Given the description of an element on the screen output the (x, y) to click on. 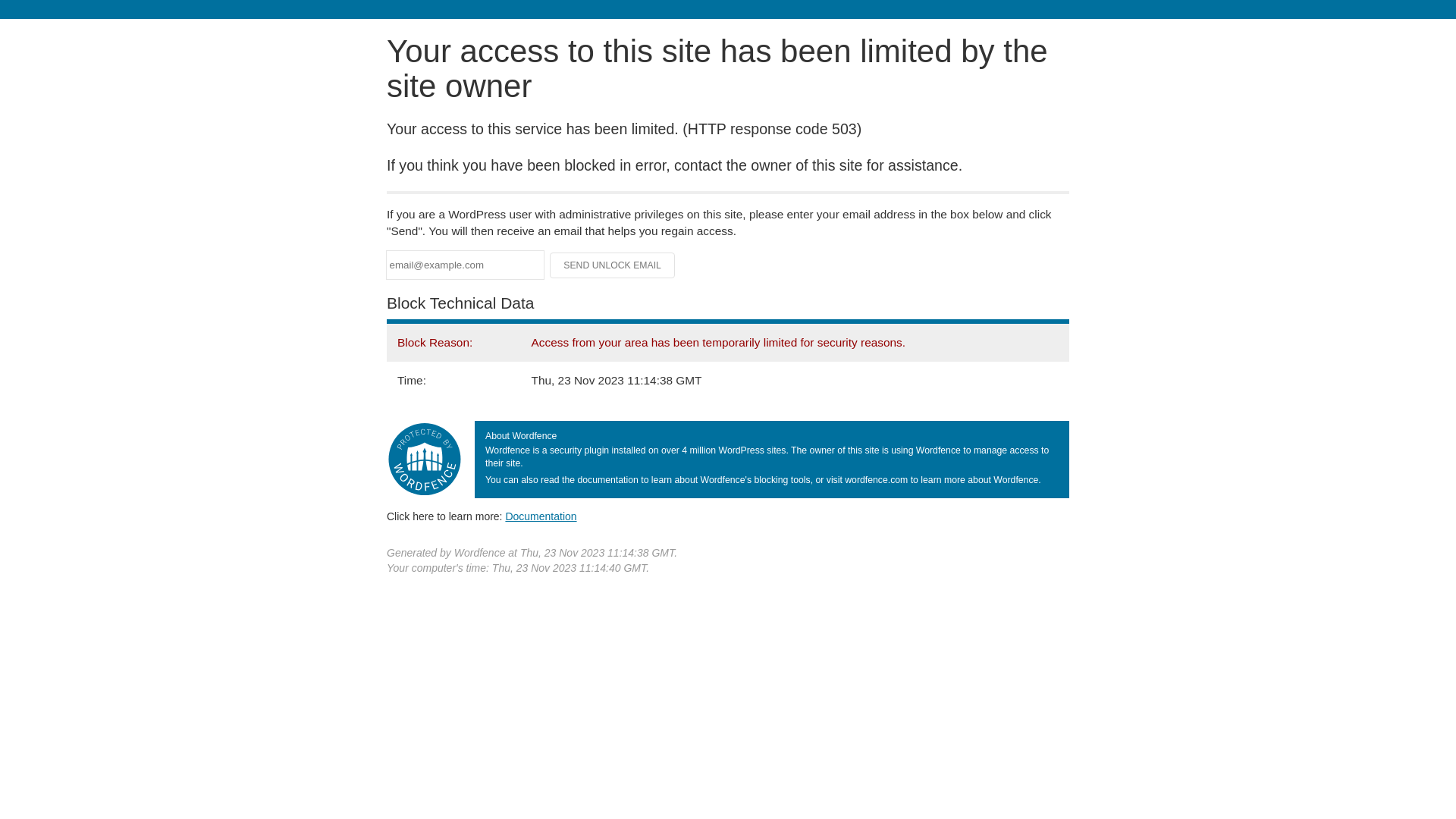
Documentation Element type: text (540, 516)
Send Unlock Email Element type: text (612, 265)
